Given the description of an element on the screen output the (x, y) to click on. 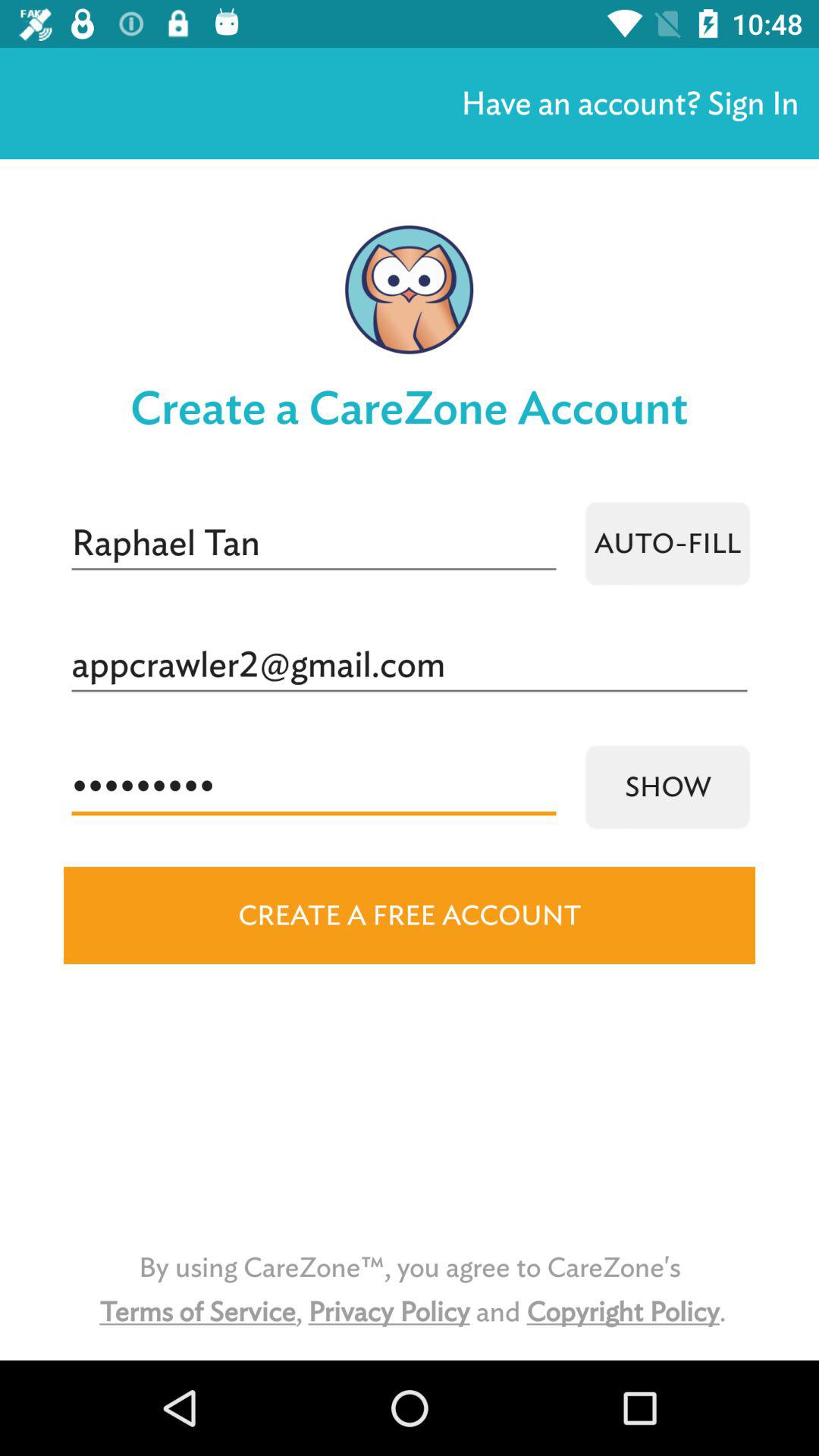
tap the item to the left of auto-fill icon (313, 543)
